Given the description of an element on the screen output the (x, y) to click on. 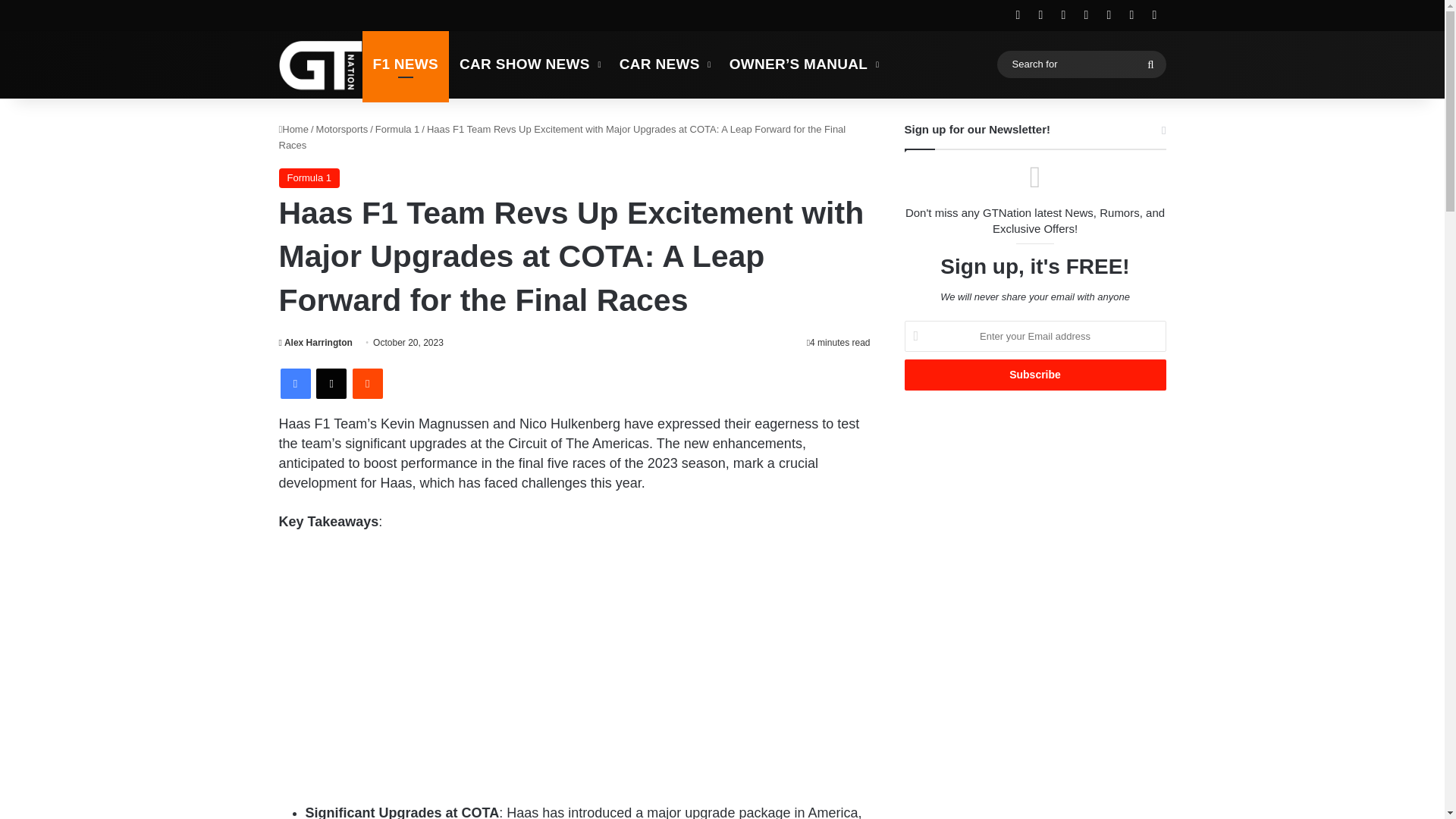
Alex Harrington (315, 342)
Grand Tour Nation (320, 64)
CAR NEWS (663, 64)
CAR SHOW NEWS (528, 64)
Search for (1080, 63)
Reddit (367, 383)
F1 NEWS (405, 64)
Home (293, 129)
X (330, 383)
Search for (1150, 63)
